Given the description of an element on the screen output the (x, y) to click on. 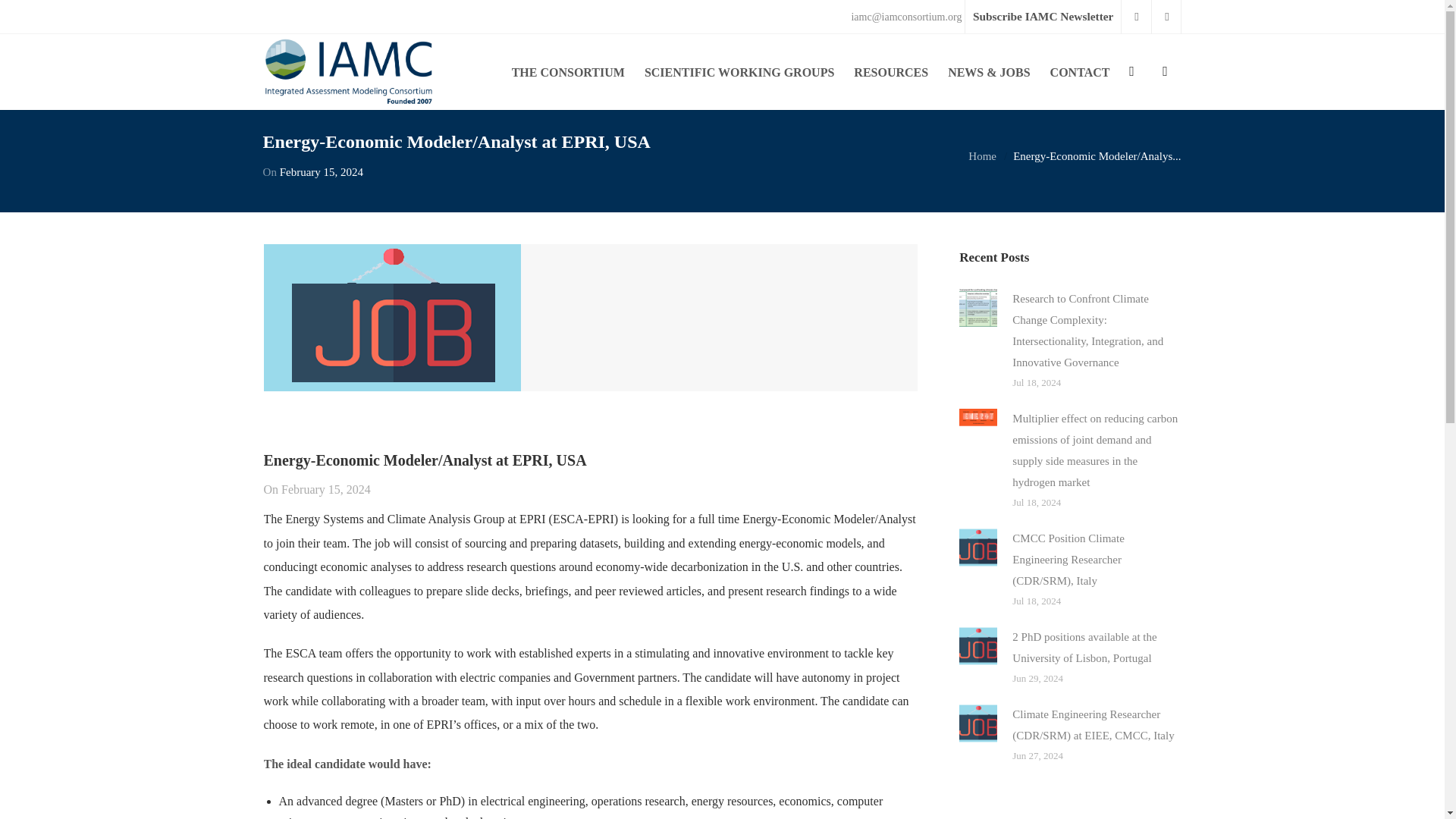
RESOURCES (890, 71)
Subscribe IAMC Newsletter (1042, 16)
Subscribe IAMC Newsletter (1042, 16)
THE CONSORTIUM (568, 71)
SCIENTIFIC WORKING GROUPS (739, 71)
